Given the description of an element on the screen output the (x, y) to click on. 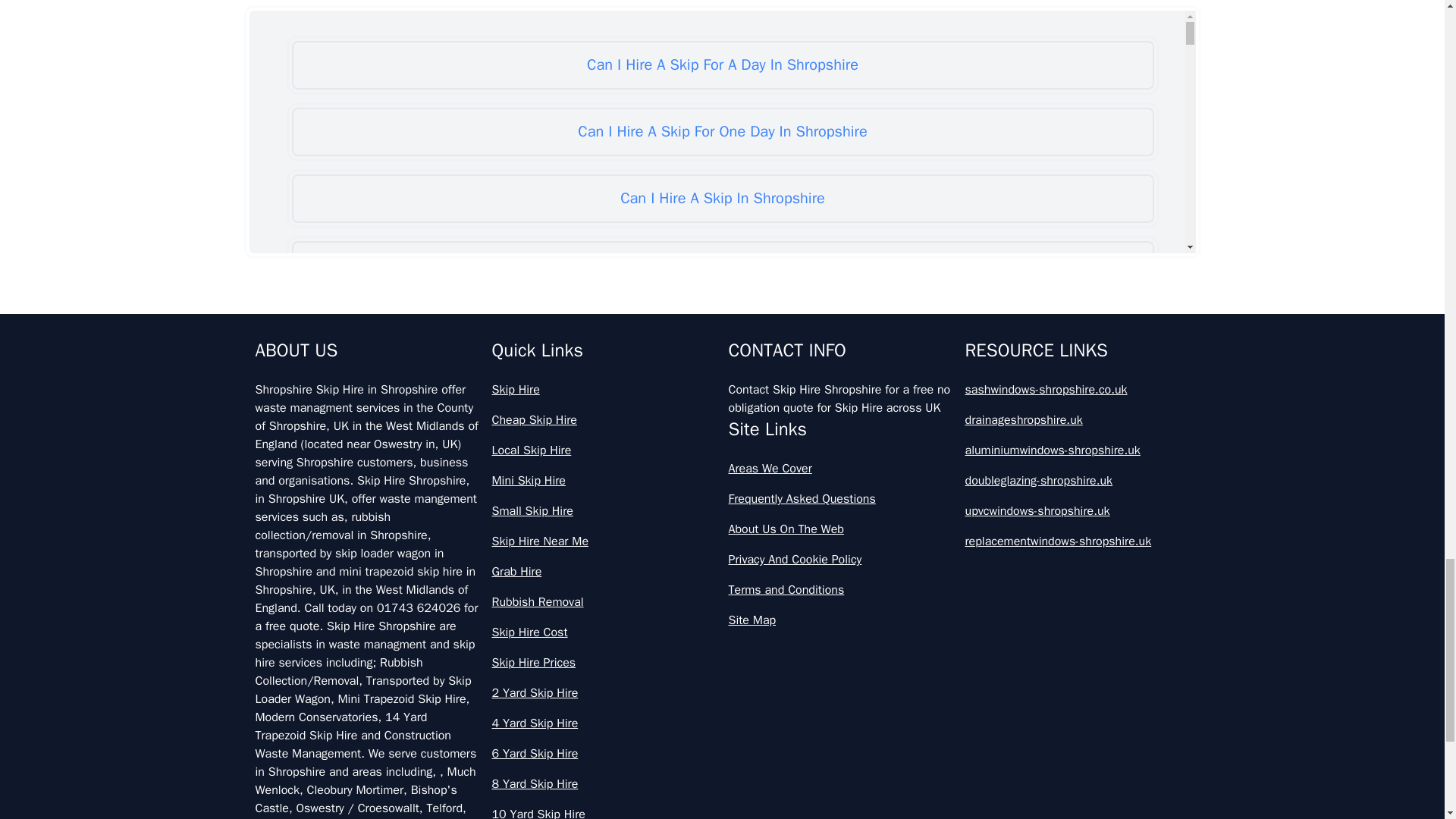
Can You Hire Skips In Shropshire (722, 598)
Site Map (840, 619)
Do I Need A Permit To Hire A Skip In Shropshire (722, 732)
Can I Hire A Skip In Shropshire (722, 198)
Can You Hire A Skip For An Hour In Shropshire (722, 331)
Can You Hire A Skip For One Day In Shropshire (722, 465)
Can I Hire A Skip For One Day In Shropshire (722, 131)
doubleglazing-shropshire.uk (1076, 480)
Can You Hire A Skip For A Day In Shropshire (722, 264)
Can You Hire A Skip In Shropshire (722, 531)
Can You Put Anything In A Hired Skip In Shropshire (722, 665)
Can I Hire A Skip For A Day In Shropshire (722, 64)
upvcwindows-shropshire.uk (1076, 511)
Can You Hire A Skip For Garden Waste In Shropshire (722, 398)
aluminiumwindows-shropshire.uk (1076, 450)
